Given the description of an element on the screen output the (x, y) to click on. 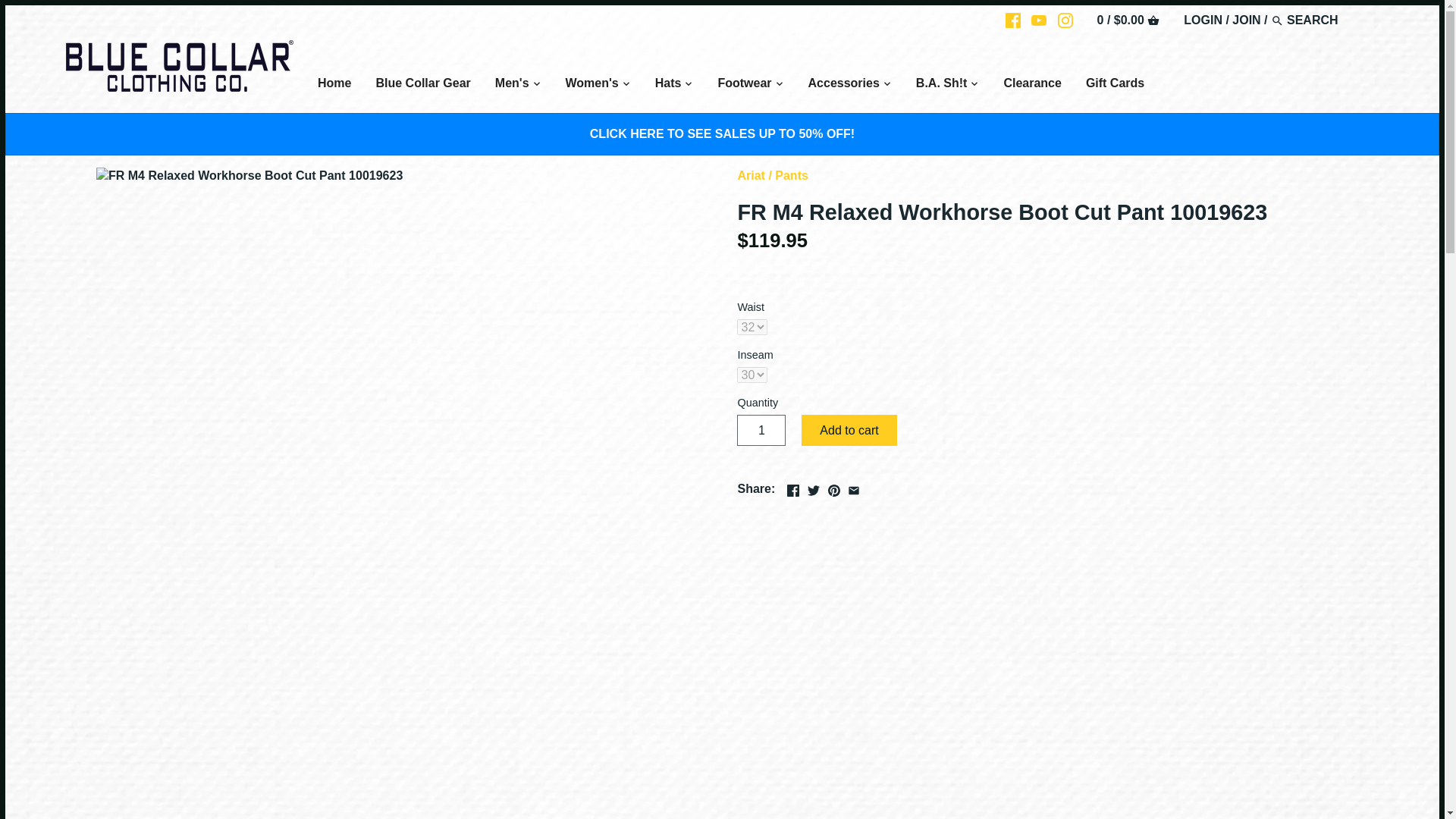
Pin the main image (834, 486)
INSTAGRAM (1065, 20)
Facebook (793, 490)
JOIN (1245, 19)
Blue Collar Gear (421, 85)
Email (853, 490)
Hats (668, 85)
Women's (591, 85)
Twitter (813, 490)
Share on Twitter (813, 486)
1 (761, 429)
CART (1152, 20)
Search (1277, 20)
Men's (512, 85)
Share on Facebook (793, 486)
